Given the description of an element on the screen output the (x, y) to click on. 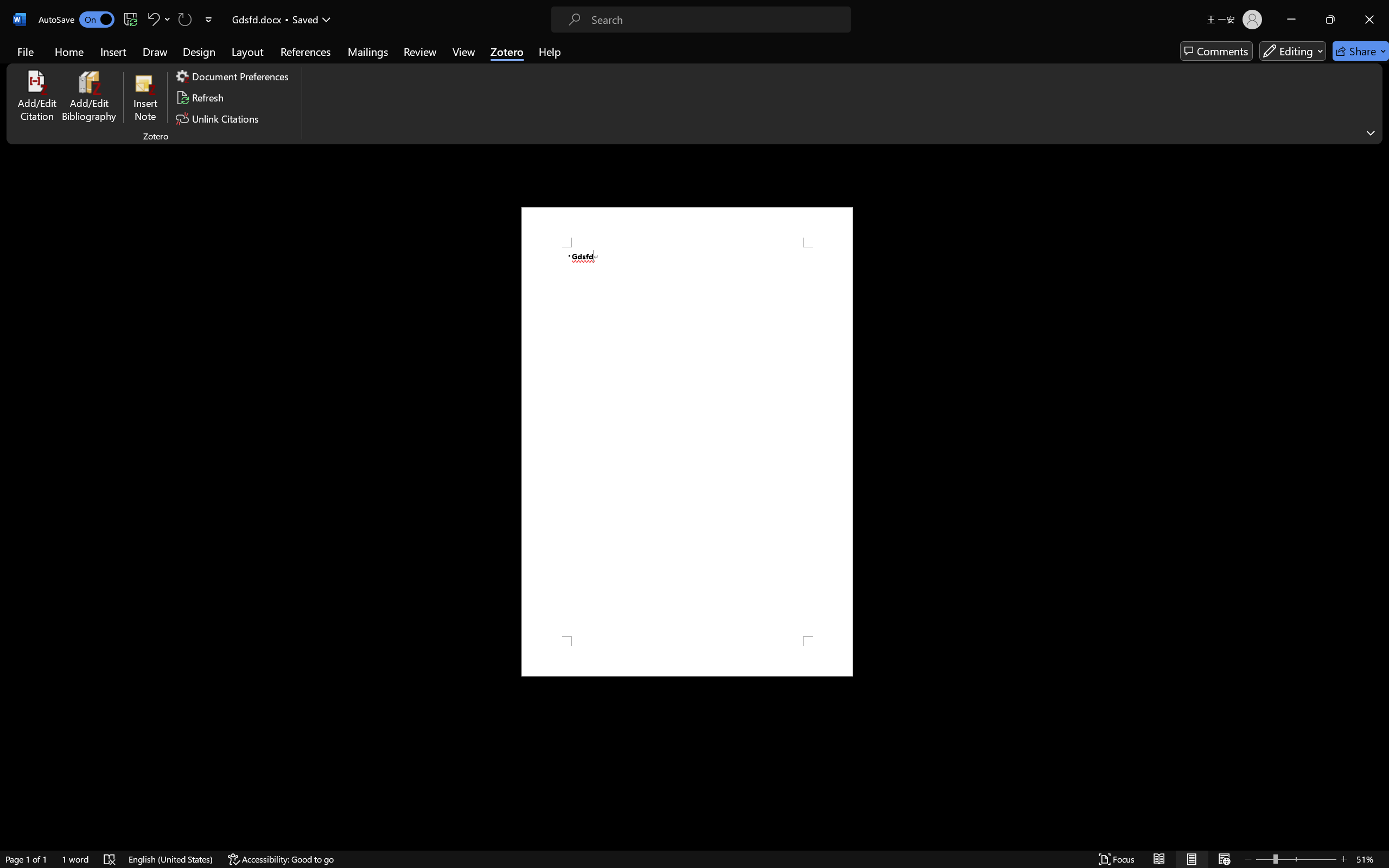
Font Color (309, 71)
Left Brace (562, 72)
Columns (406, 71)
Connector: Elbow Arrow (550, 60)
Decrease Font Size (296, 52)
Line Spacing (413, 52)
Freeform: Shape (518, 72)
Distributed (385, 71)
